Given the description of an element on the screen output the (x, y) to click on. 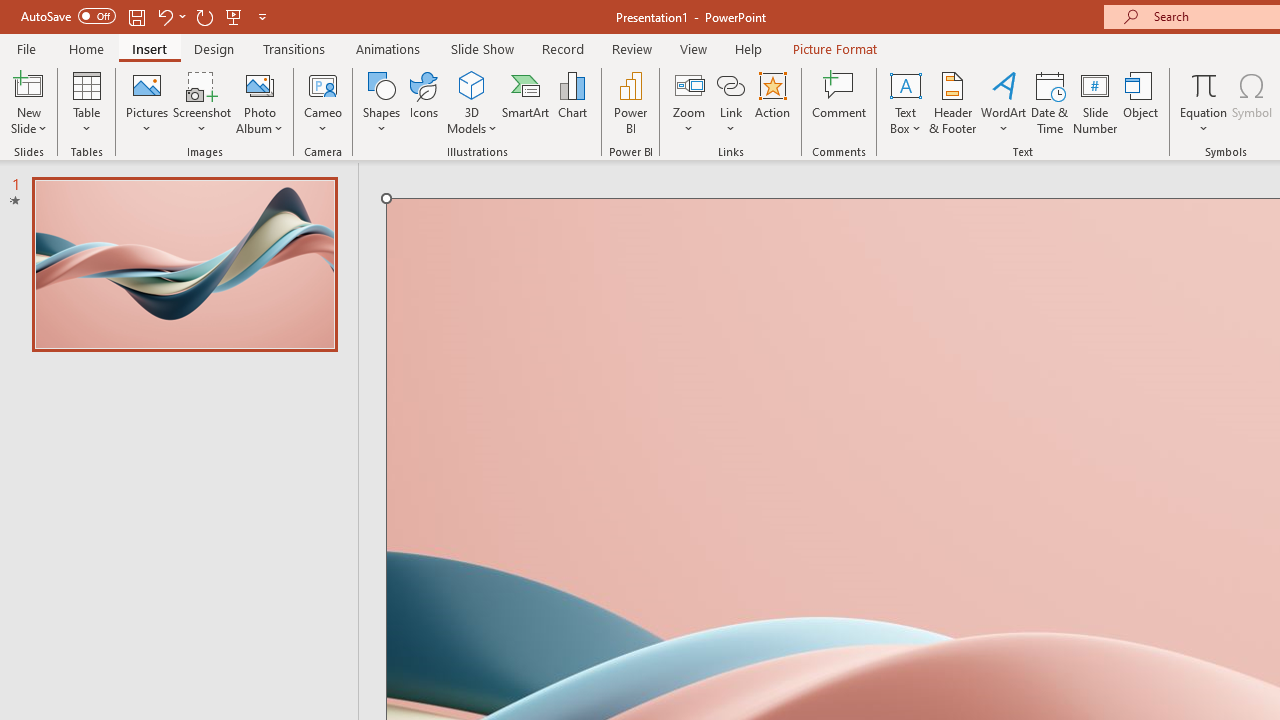
Equation (1203, 102)
Header & Footer... (952, 102)
Link (731, 102)
Chart... (572, 102)
3D Models (472, 84)
Equation (1203, 84)
